Given the description of an element on the screen output the (x, y) to click on. 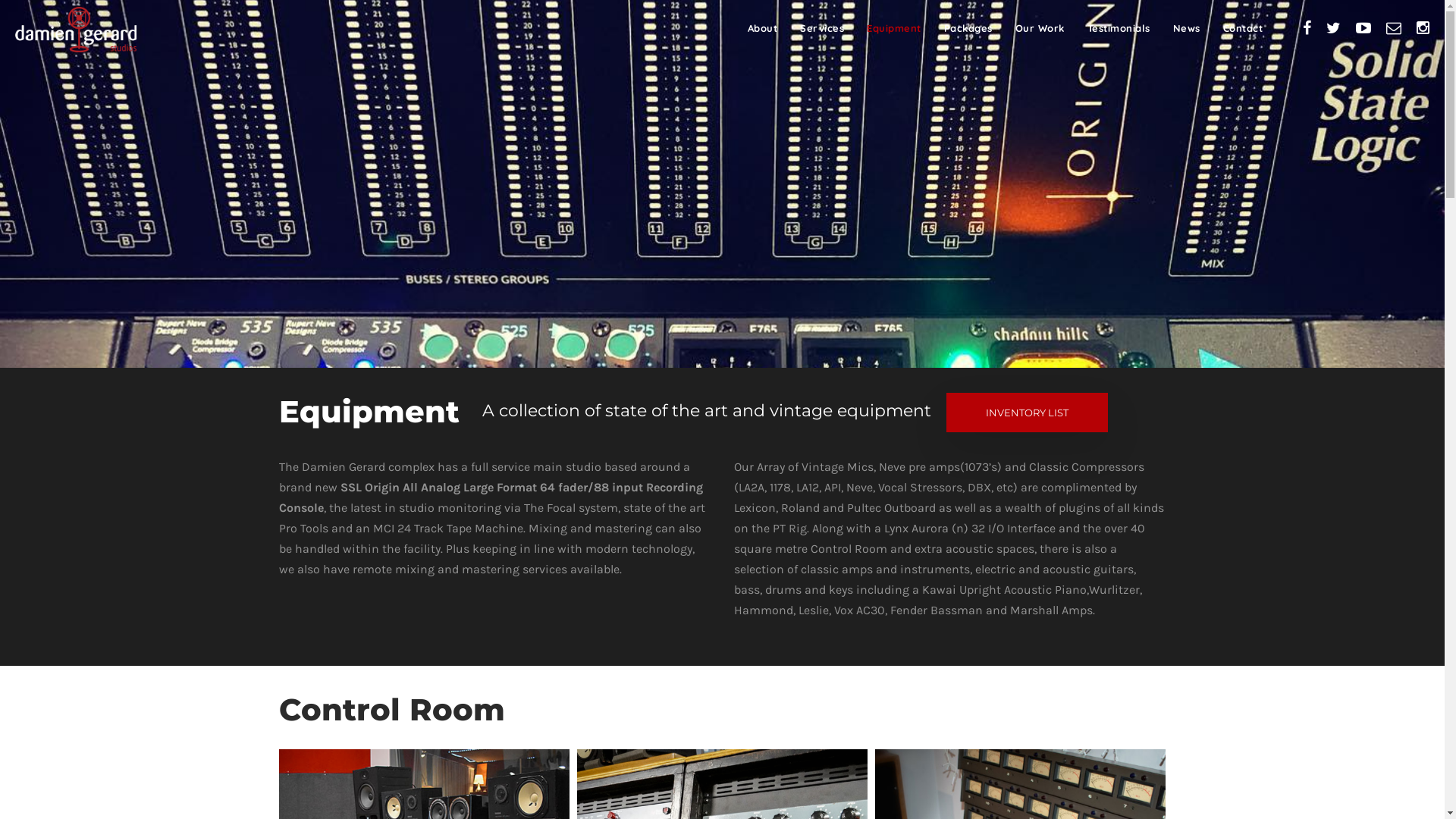
News Element type: text (1185, 27)
About Element type: text (762, 27)
Equipment Element type: text (893, 27)
Testimonials Element type: text (1118, 27)
Contact Element type: text (1242, 27)
Packages Element type: text (967, 27)
INVENTORY LIST Element type: text (1026, 412)
Services Element type: text (822, 27)
Our Work Element type: text (1038, 27)
